Given the description of an element on the screen output the (x, y) to click on. 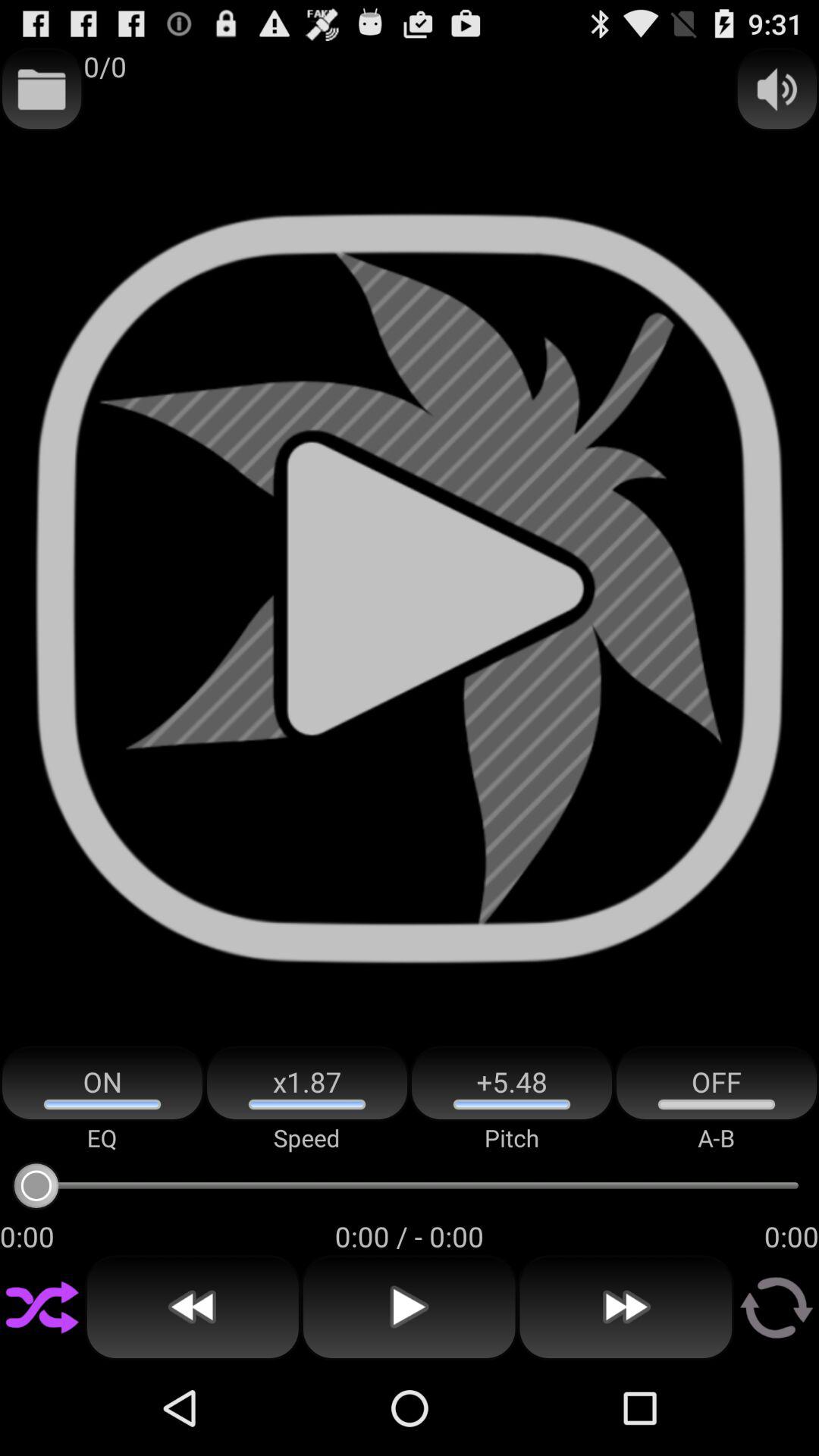
turn on the icon below the 0 00 0 (625, 1307)
